Given the description of an element on the screen output the (x, y) to click on. 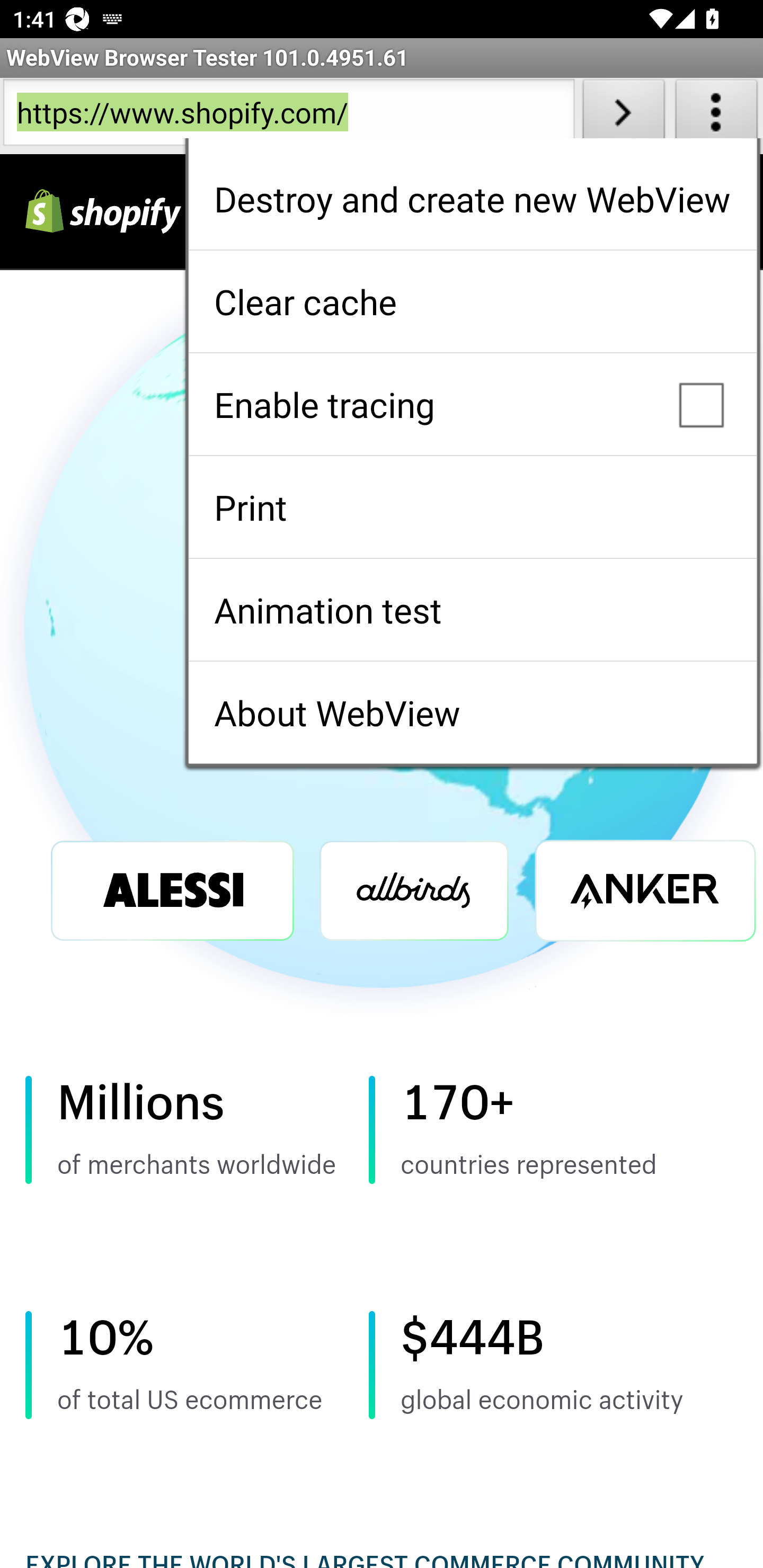
Destroy and create new WebView (472, 198)
Clear cache (472, 301)
Enable tracing (472, 403)
Print (472, 507)
Animation test (472, 609)
About WebView (472, 712)
